Given the description of an element on the screen output the (x, y) to click on. 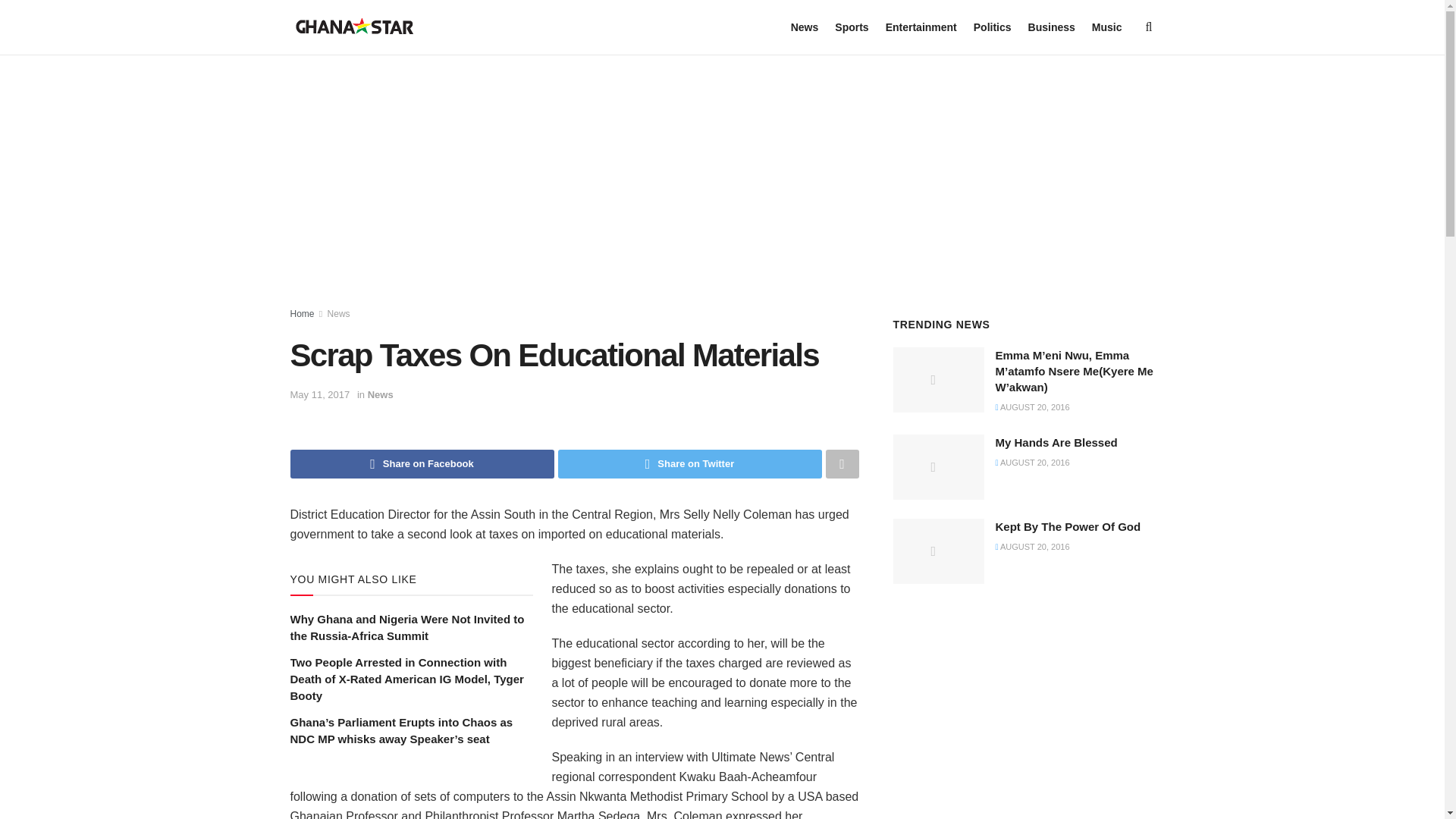
News (804, 26)
Advertisement (1023, 716)
Share on Facebook (421, 463)
News (380, 394)
News (338, 313)
Politics (992, 26)
Entertainment (920, 26)
Business (1051, 26)
